Given the description of an element on the screen output the (x, y) to click on. 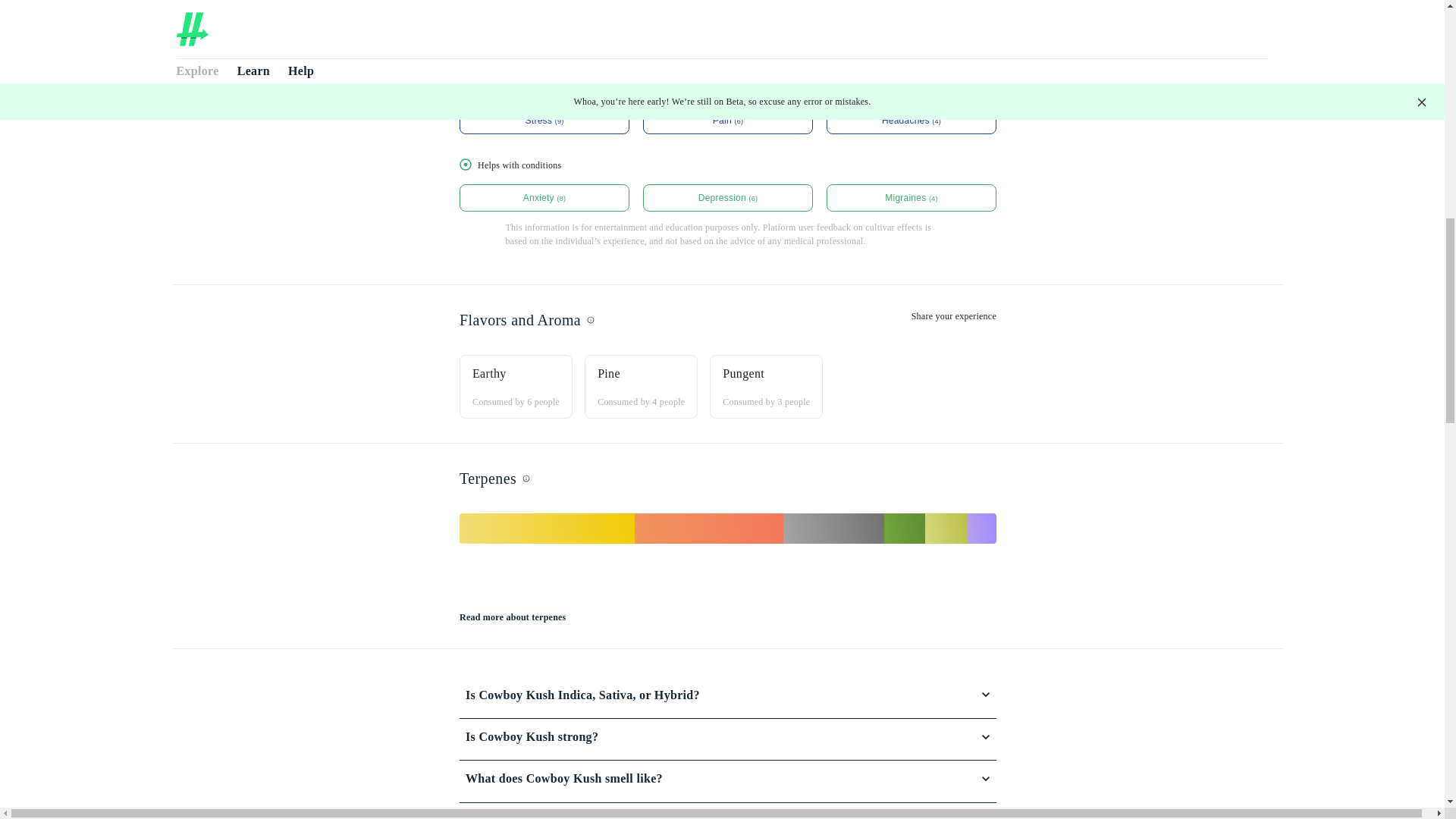
dry mouth (544, 42)
stress (544, 120)
anxiety (544, 197)
Negative Effects (727, 30)
anxious (911, 42)
depression (727, 197)
Read more about terpenes (513, 616)
dry eyes (727, 42)
pain (727, 120)
headaches (911, 120)
